Given the description of an element on the screen output the (x, y) to click on. 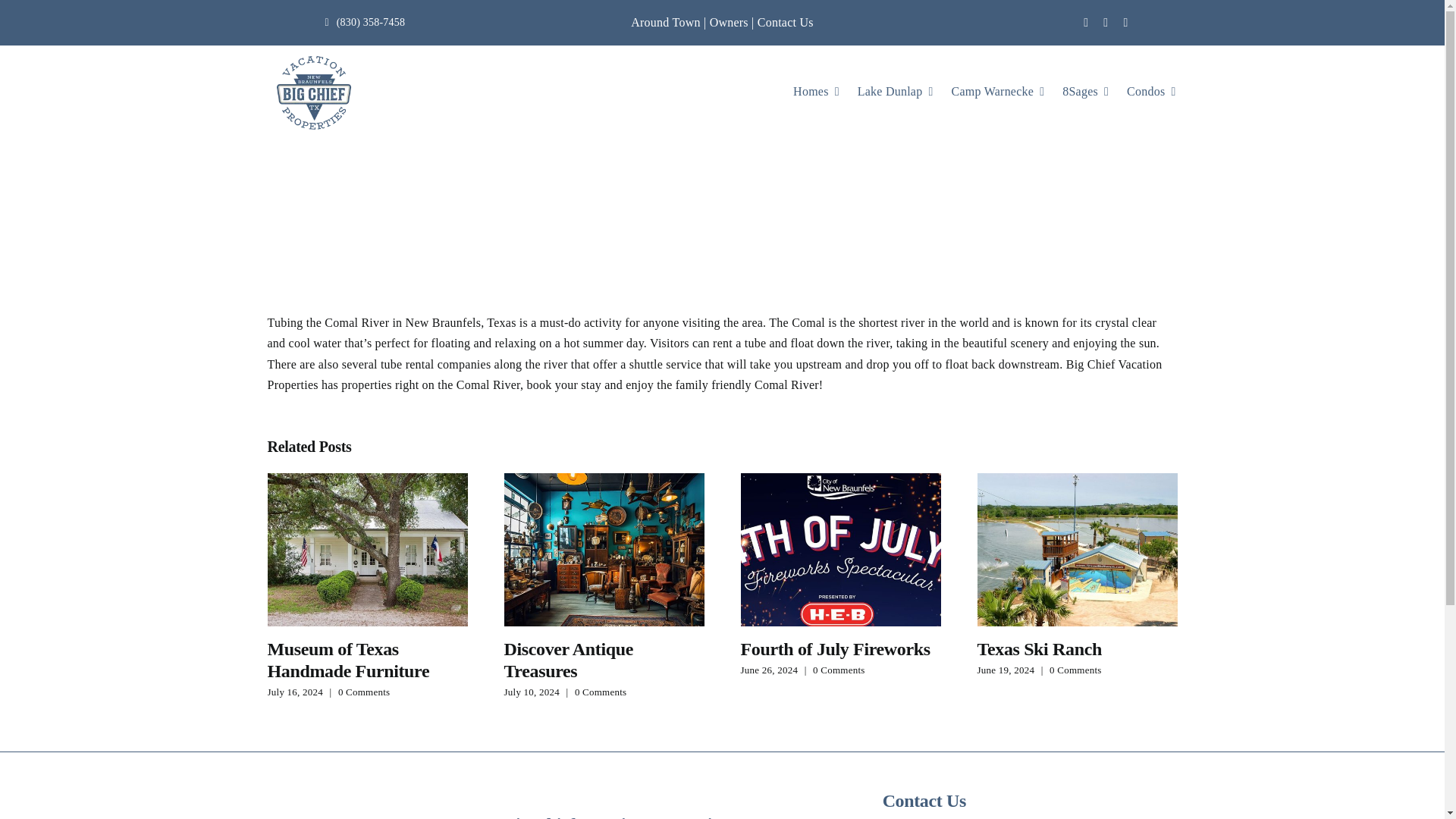
Fourth of July Fireworks (834, 649)
Lake Dunlap (895, 92)
Property Owners (729, 21)
Texas Ski Ranch (1038, 649)
Contact Us (785, 21)
Contact Us (785, 21)
Big-Chief-Final-800px (366, 808)
Around Town (665, 21)
Discover Antique Treasures (567, 659)
Museum of Texas Handmade Furniture (347, 659)
Owners (729, 21)
Around Town (665, 21)
